Given the description of an element on the screen output the (x, y) to click on. 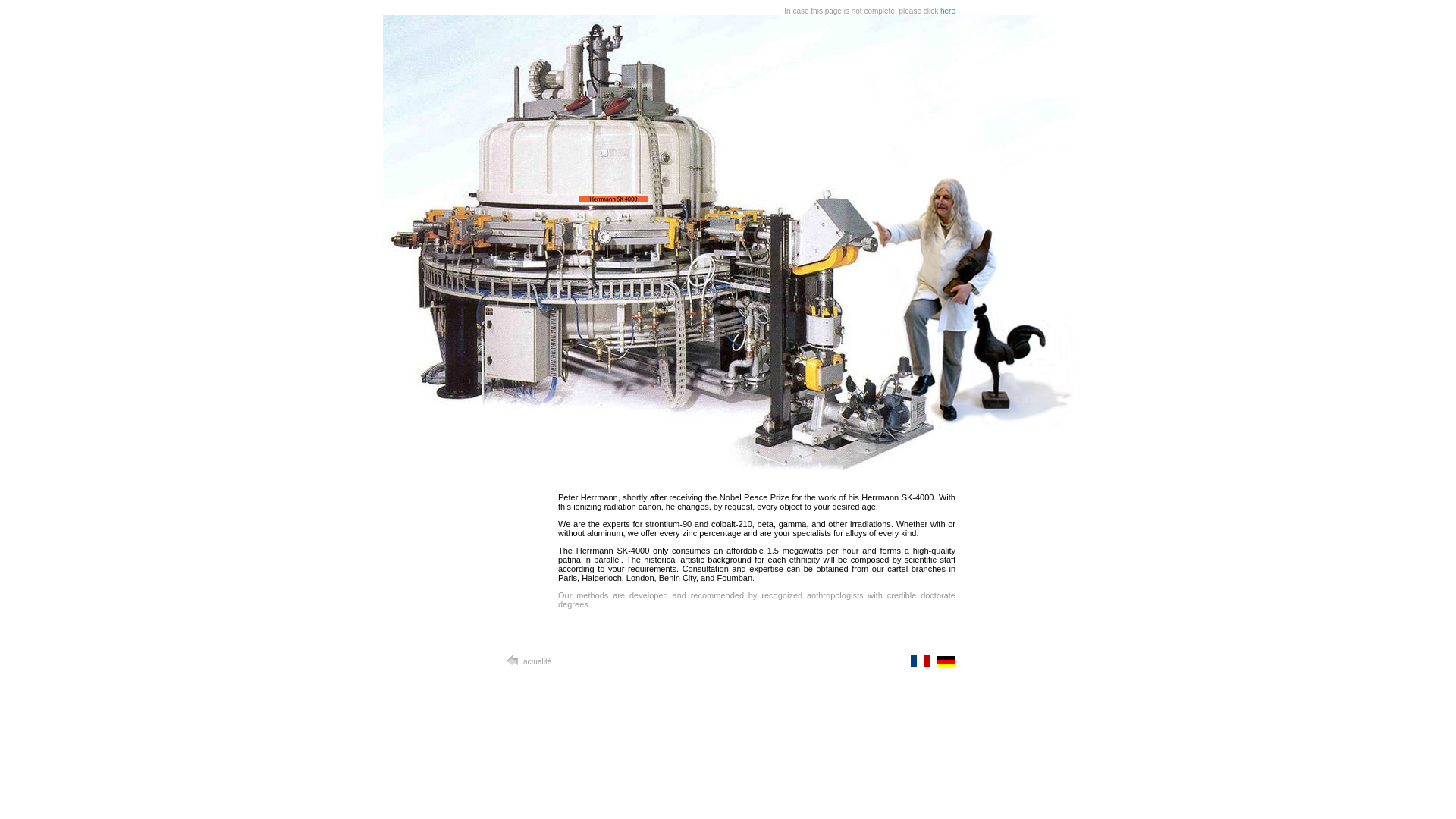
here (947, 9)
